Given the description of an element on the screen output the (x, y) to click on. 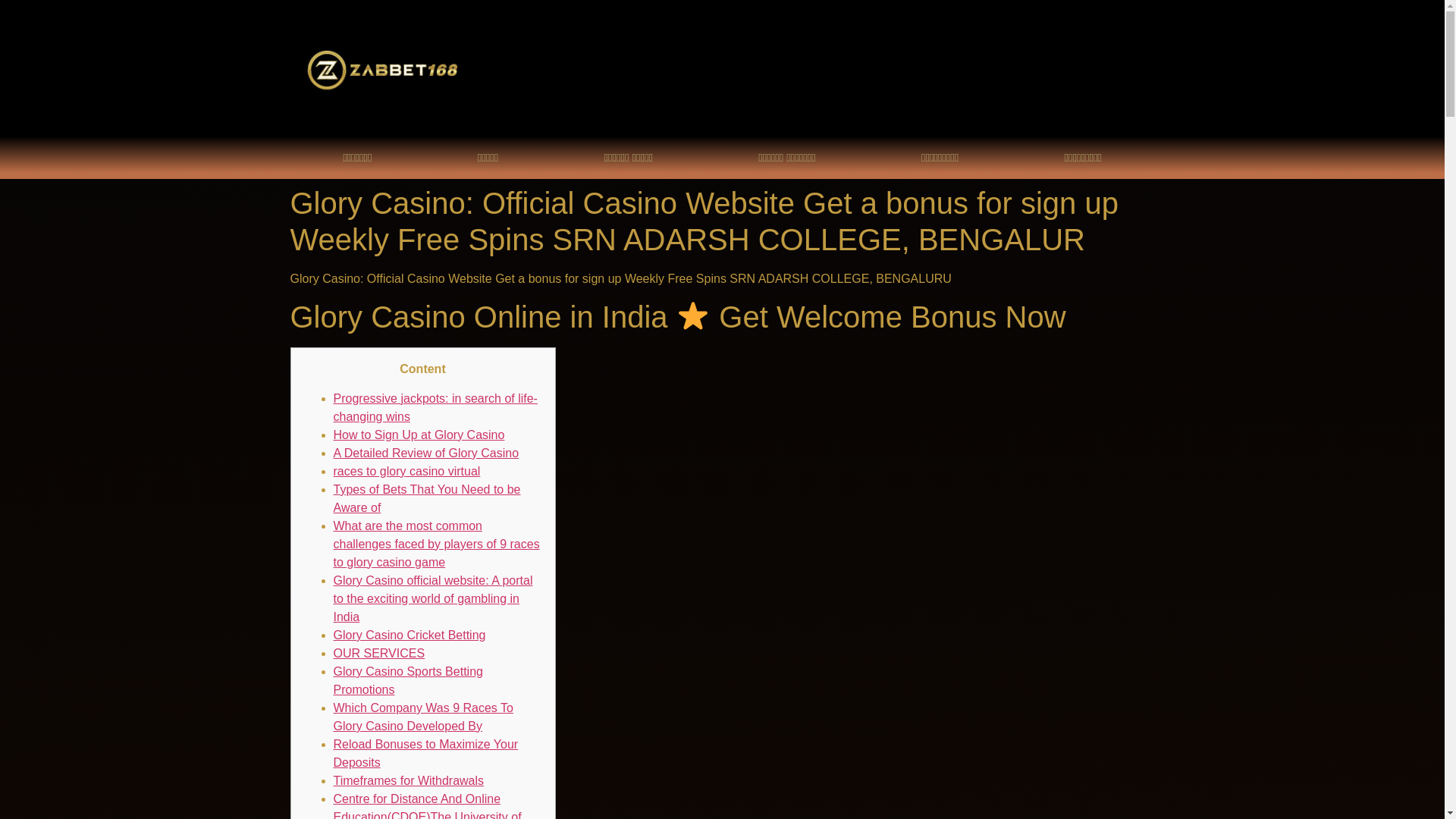
Reload Bonuses to Maximize Your Deposits (425, 753)
Timeframes for Withdrawals (408, 780)
Progressive jackpots: in search of life-changing wins (435, 407)
A Detailed Review of Glory Casino (426, 452)
Which Company Was 9 Races To Glory Casino Developed By (423, 716)
Glory Casino Cricket Betting (409, 634)
Types of Bets That You Need to be Aware of (427, 498)
OUR SERVICES (379, 653)
races to glory casino virtual (406, 471)
How to Sign Up at Glory Casino (419, 434)
Glory Casino Sports Betting Promotions (408, 680)
